Given the description of an element on the screen output the (x, y) to click on. 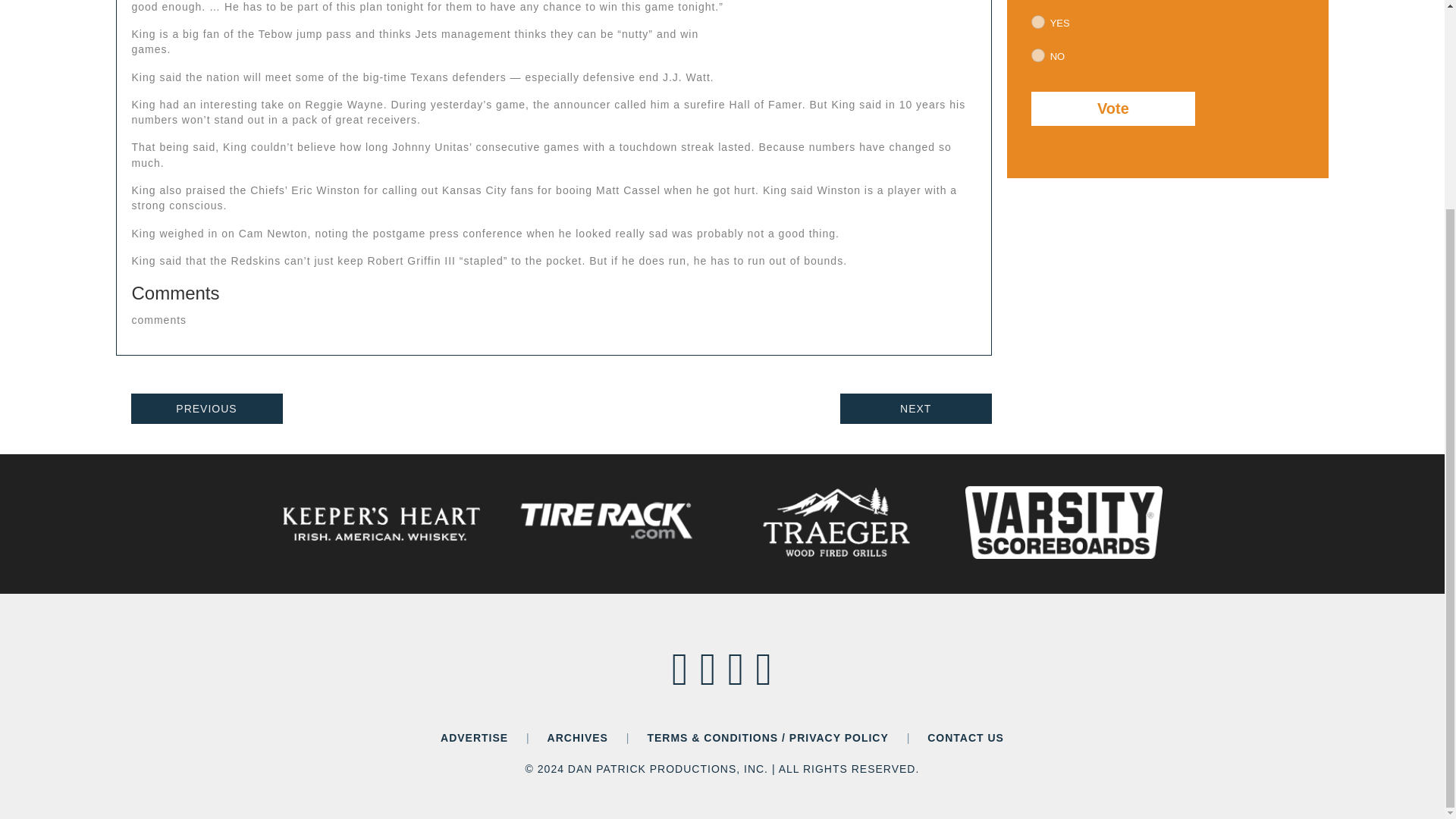
PREVIOUS (206, 408)
Vote (1112, 108)
King (861, 36)
63381893 (1037, 55)
TireRackCom.whitegrey-250 (607, 521)
63381892 (1037, 21)
Keepers-heart-Logo-400a (380, 523)
ADVERTISE (474, 737)
Varsity-logo (1062, 521)
NEXT (915, 408)
